Given the description of an element on the screen output the (x, y) to click on. 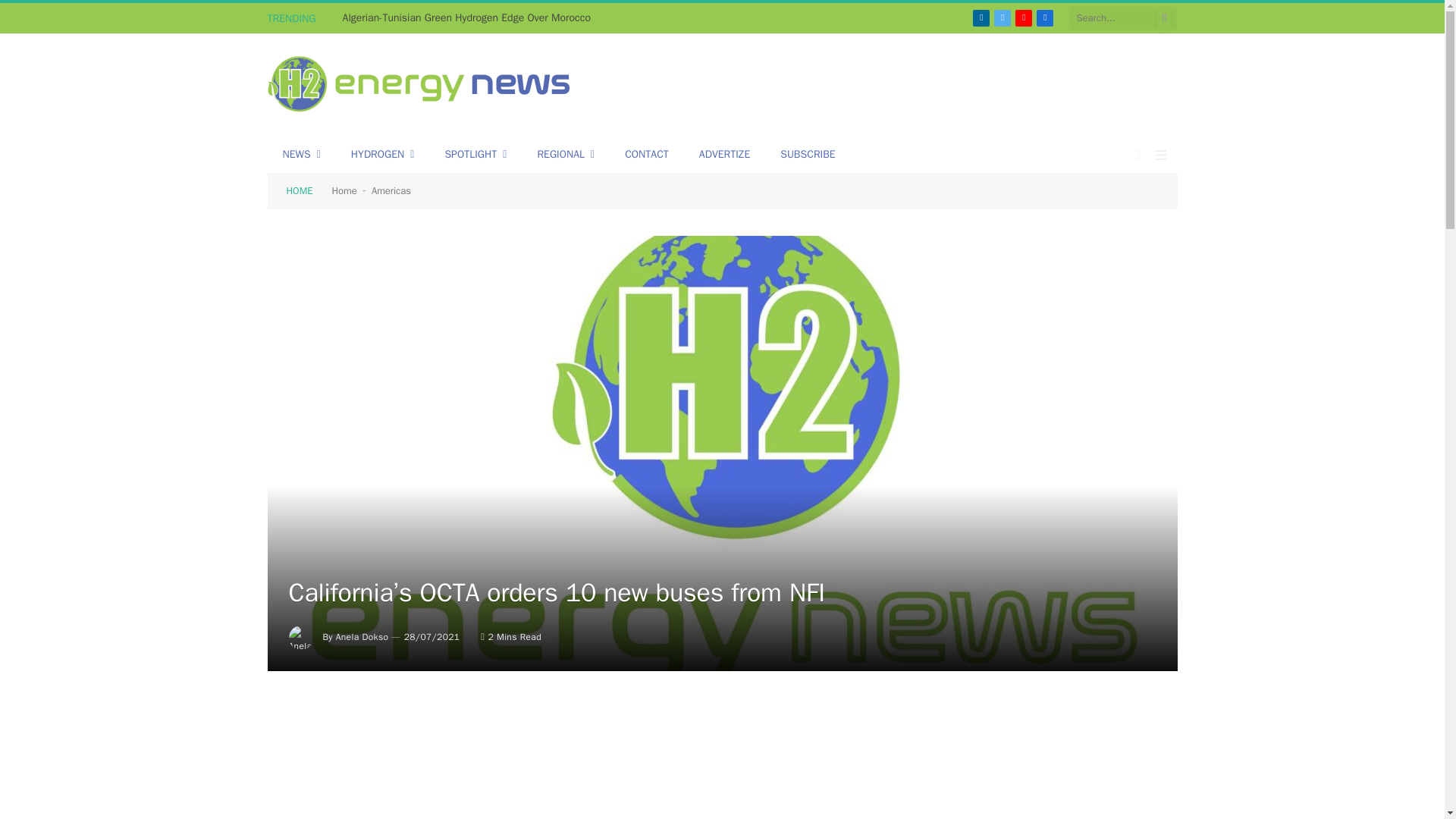
Facebook (1044, 17)
HYDROGEN (382, 154)
Posts by Anela Dokso (362, 636)
Switch to Dark Design - easier on eyes. (1138, 154)
NEWS (300, 154)
LinkedIn (981, 17)
YouTube (1023, 17)
Algerian-Tunisian Green Hydrogen Edge Over Morocco (470, 18)
Green Hydrogen News (418, 85)
